Given the description of an element on the screen output the (x, y) to click on. 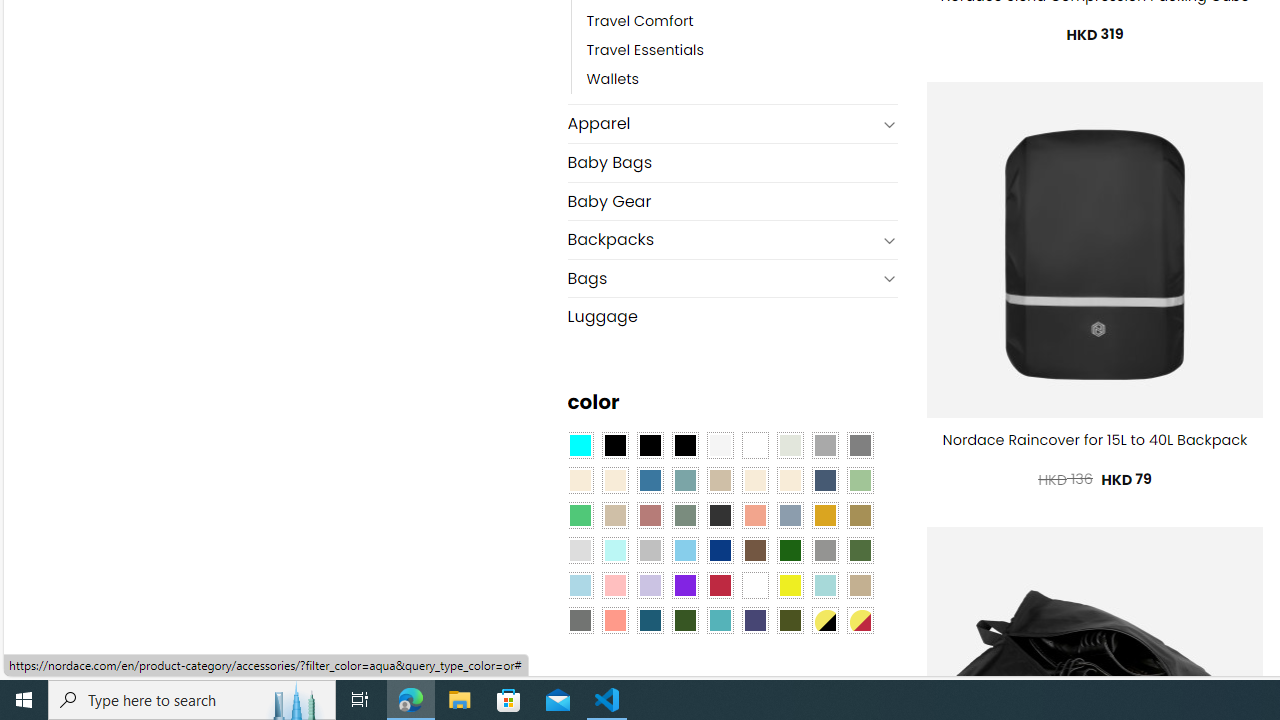
Peach Pink (614, 619)
Light Blue (579, 584)
Forest (684, 619)
Ash Gray (789, 444)
Pearly White (719, 444)
Dark Green (789, 550)
Black-Brown (684, 444)
Gold (824, 514)
Travel Essentials (742, 51)
Aqua (824, 584)
Yellow-Black (824, 619)
Nordace Raincover for 15L to 40L Backpack (1095, 440)
Purple Navy (755, 619)
Capri Blue (650, 619)
